Given the description of an element on the screen output the (x, y) to click on. 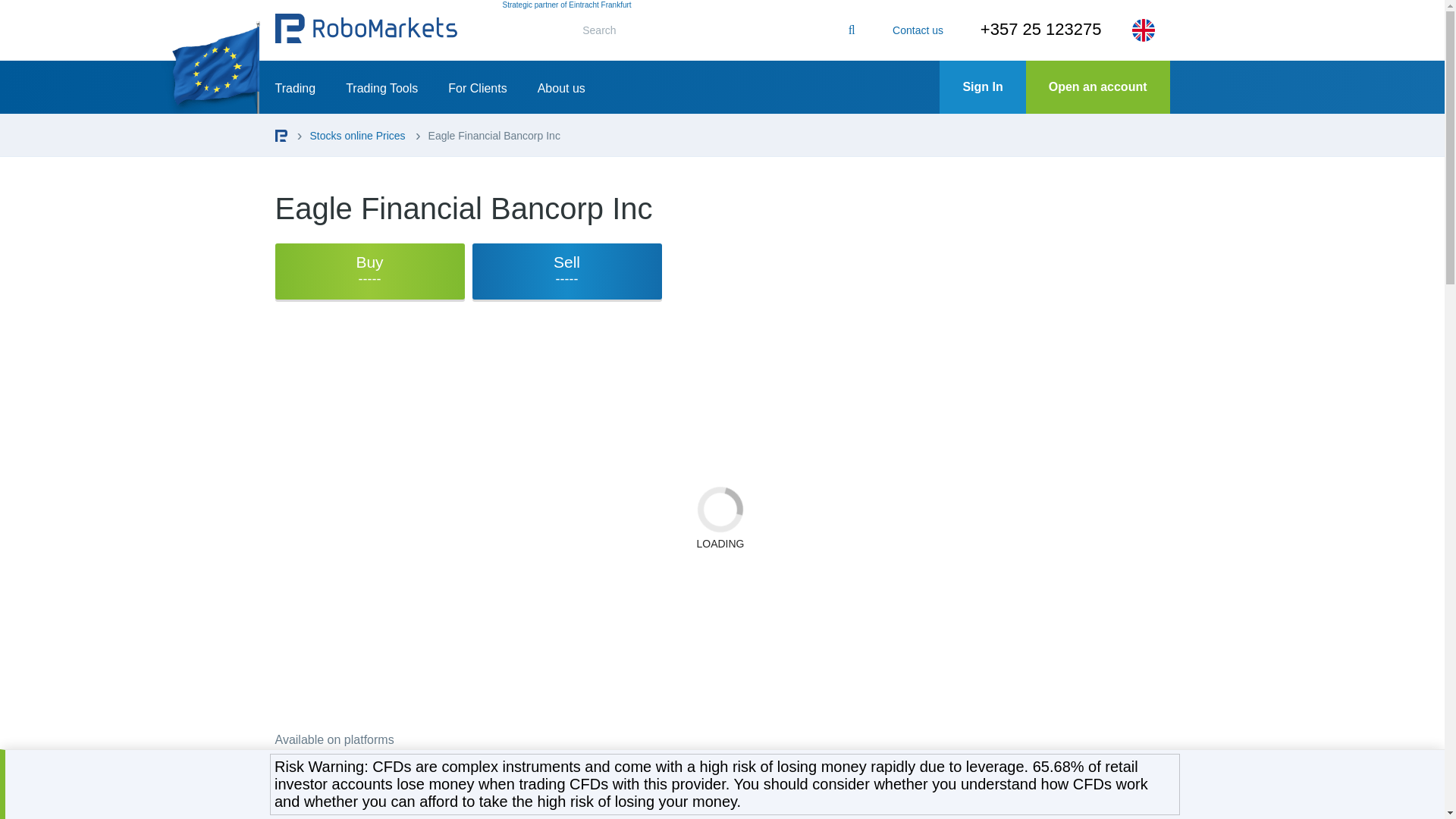
Strategic partner of Eintracht Frankfurt (566, 5)
Contact us (917, 30)
Search (851, 29)
